Given the description of an element on the screen output the (x, y) to click on. 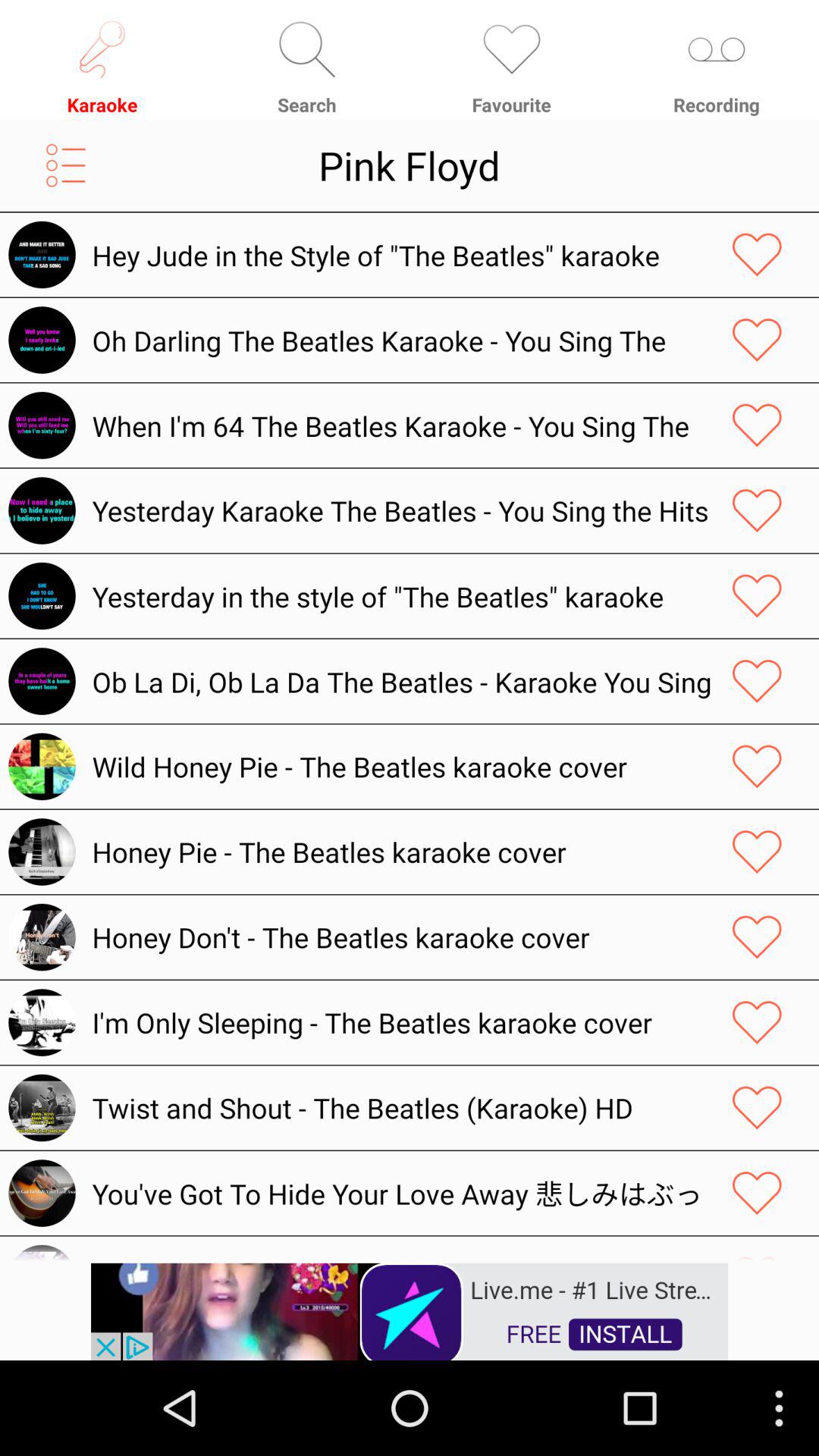
link to advertisement (409, 1310)
